Given the description of an element on the screen output the (x, y) to click on. 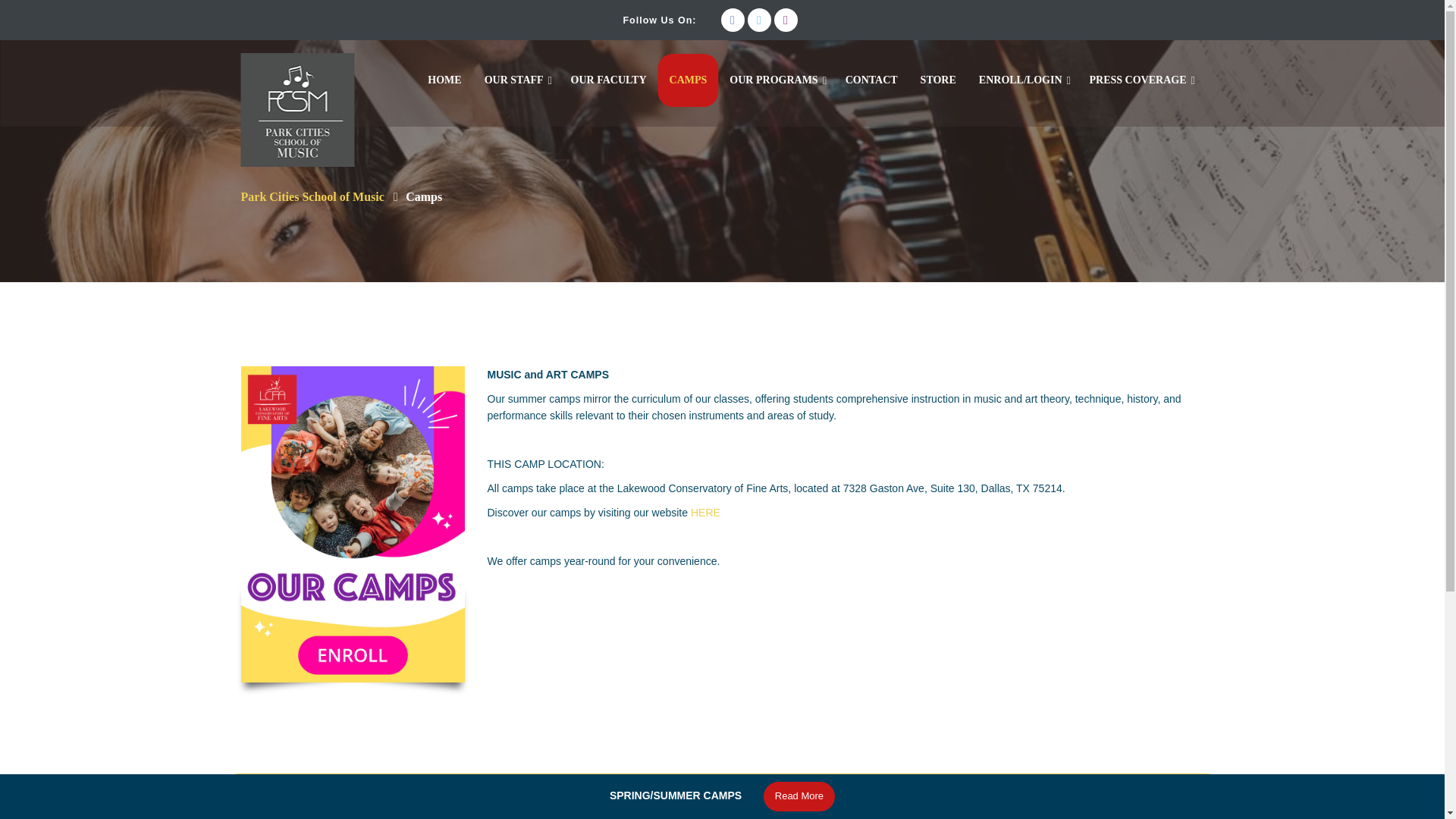
Go to Park Cities School of Music. (312, 195)
Park Cities School of Music (312, 195)
OUR STAFF (513, 72)
PRESS COVERAGE (1138, 72)
HERE (705, 512)
ENROLL NOW (975, 809)
OUR PROGRAMS (772, 72)
HOME (443, 72)
STORE (938, 72)
CAMPS (688, 80)
OUR FACULTY (608, 72)
CONTACT (871, 72)
